Given the description of an element on the screen output the (x, y) to click on. 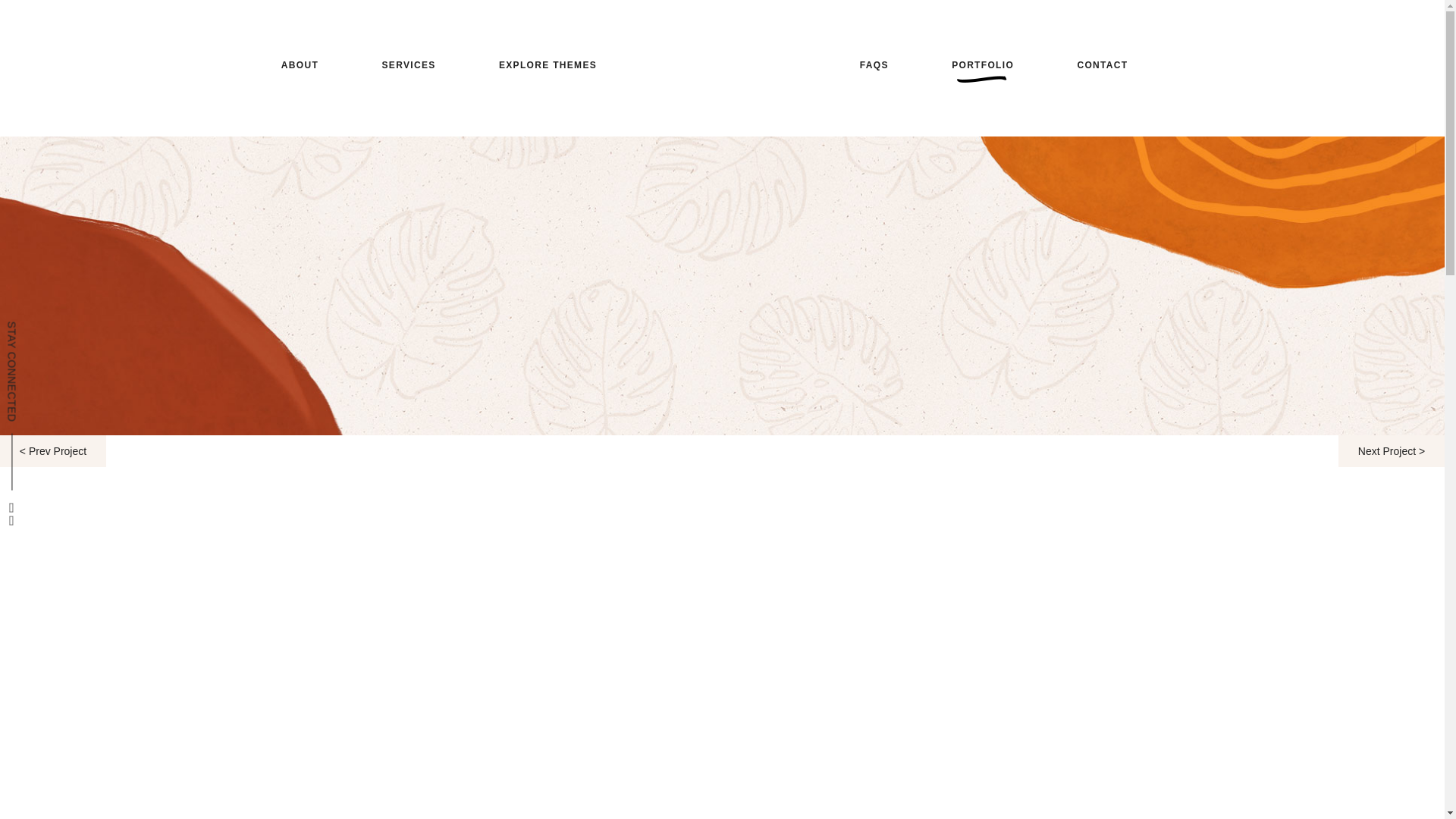
Instagram (11, 520)
Facebook (11, 508)
SERVICES (407, 64)
FAQS (872, 64)
EXPLORE THEMES (547, 64)
PORTFOLIO (982, 64)
CONTACT (1101, 64)
ABOUT (299, 64)
